Given the description of an element on the screen output the (x, y) to click on. 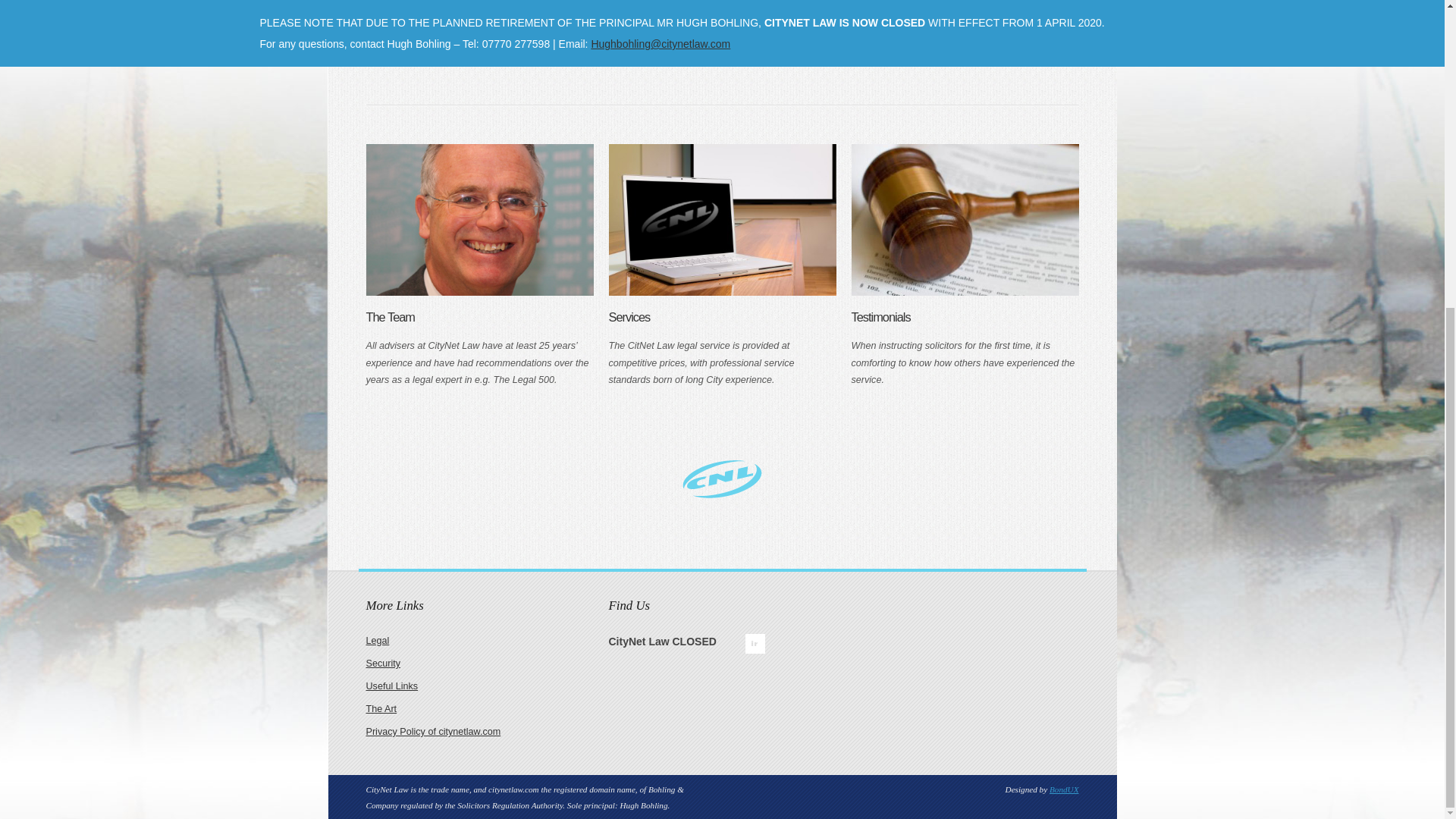
Legal (376, 640)
Testimonials (880, 316)
Privacy Policy of citynetlaw.com (432, 731)
Useful Links (391, 685)
The Art (380, 708)
Security (382, 663)
LinkedIn (754, 643)
Services (628, 316)
BondUX (1063, 788)
The Team (389, 316)
